Given the description of an element on the screen output the (x, y) to click on. 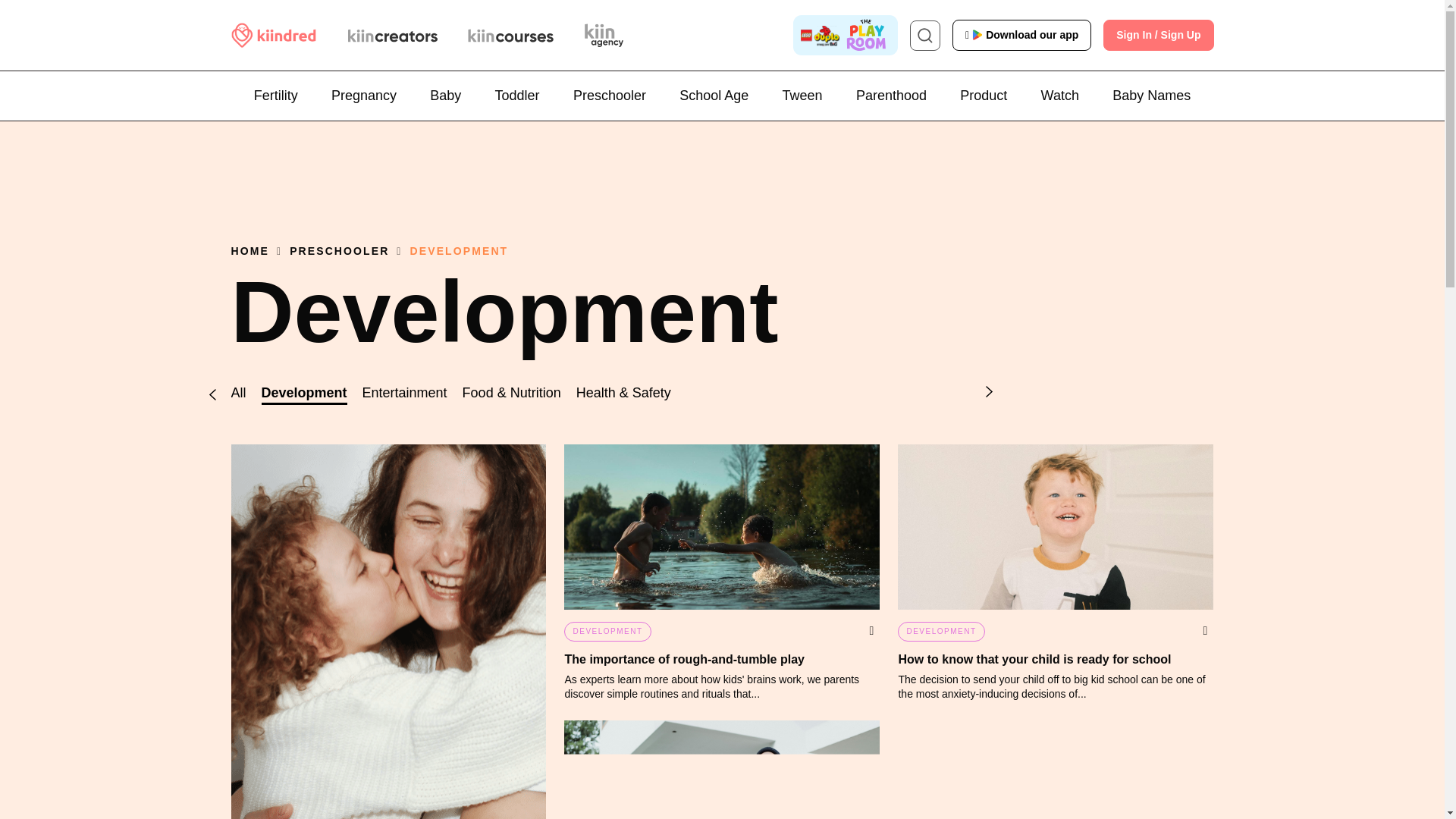
Fertility (275, 95)
kiincreators (391, 34)
playstore-btn (1023, 34)
Download our app (1023, 34)
Pregnancy (363, 95)
kiinagency (605, 34)
kiindred (273, 34)
Lego Duplo (845, 35)
Toddler (517, 95)
kiincourses (510, 34)
